Given the description of an element on the screen output the (x, y) to click on. 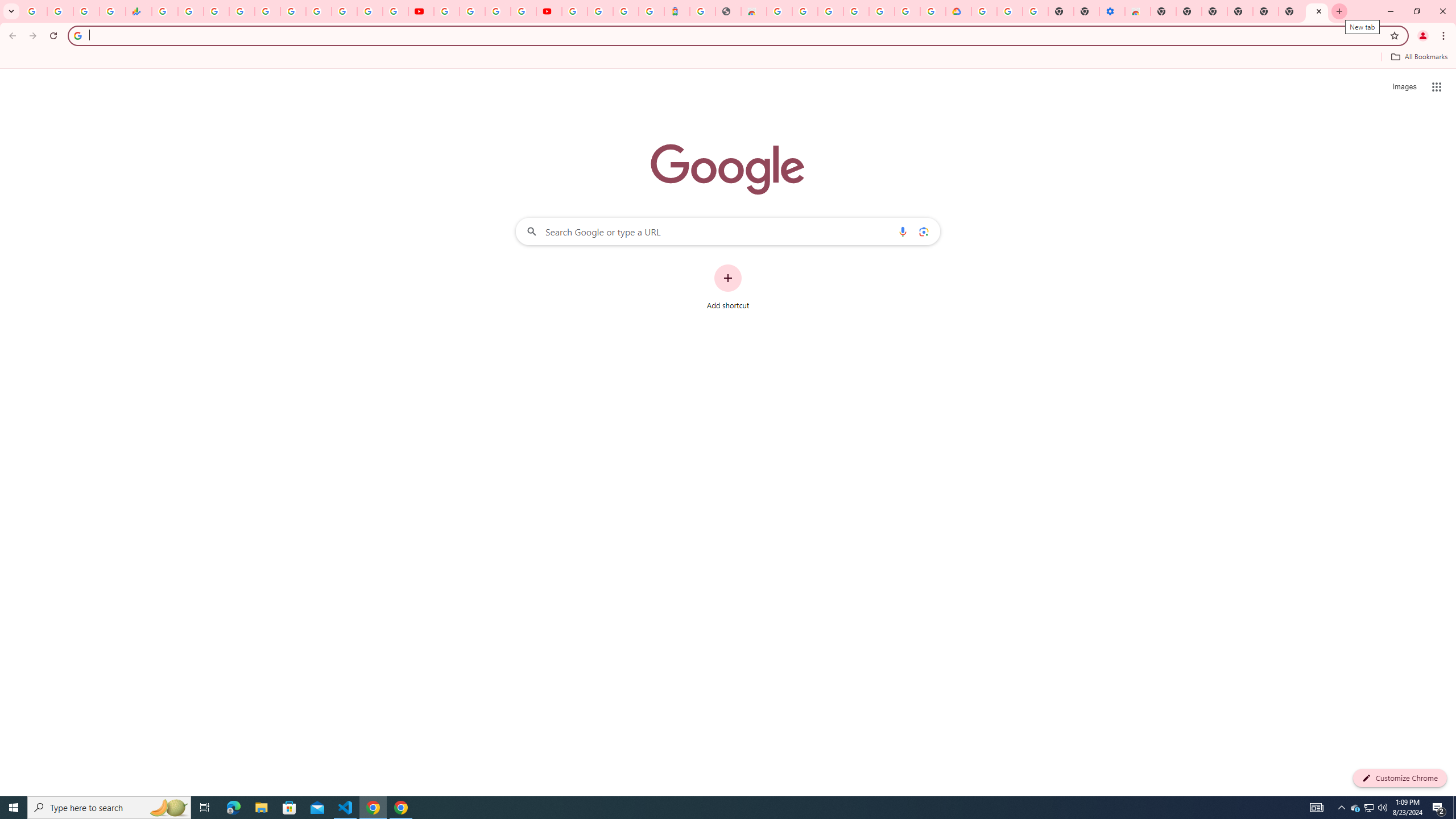
Ad Settings (804, 11)
YouTube (446, 11)
Sign in - Google Accounts (600, 11)
Bookmarks (728, 58)
Turn cookies on or off - Computer - Google Account Help (1034, 11)
Sign in - Google Accounts (983, 11)
YouTube (421, 11)
New Tab (1162, 11)
